Given the description of an element on the screen output the (x, y) to click on. 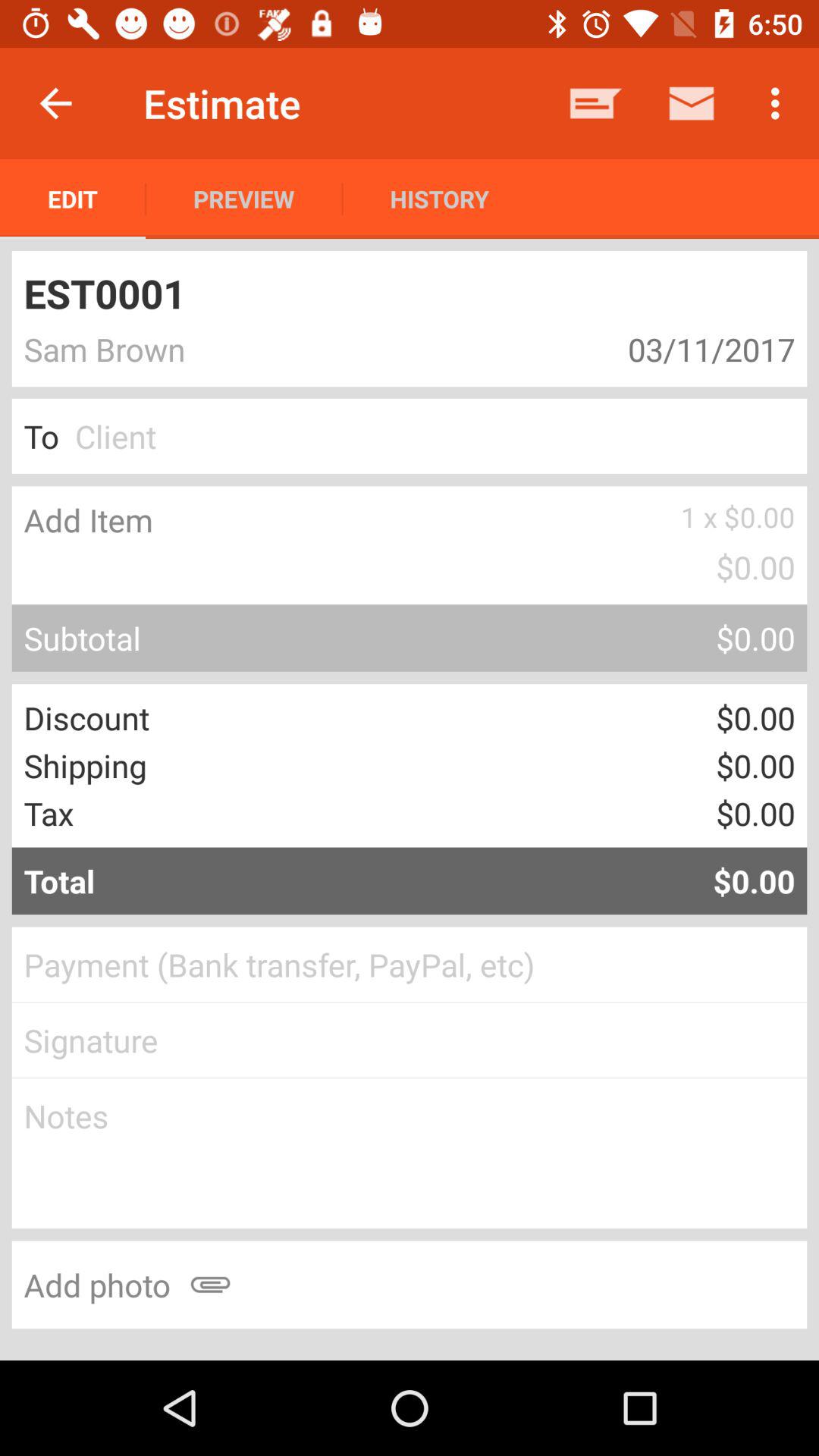
launch the item to the right of the preview icon (439, 198)
